Given the description of an element on the screen output the (x, y) to click on. 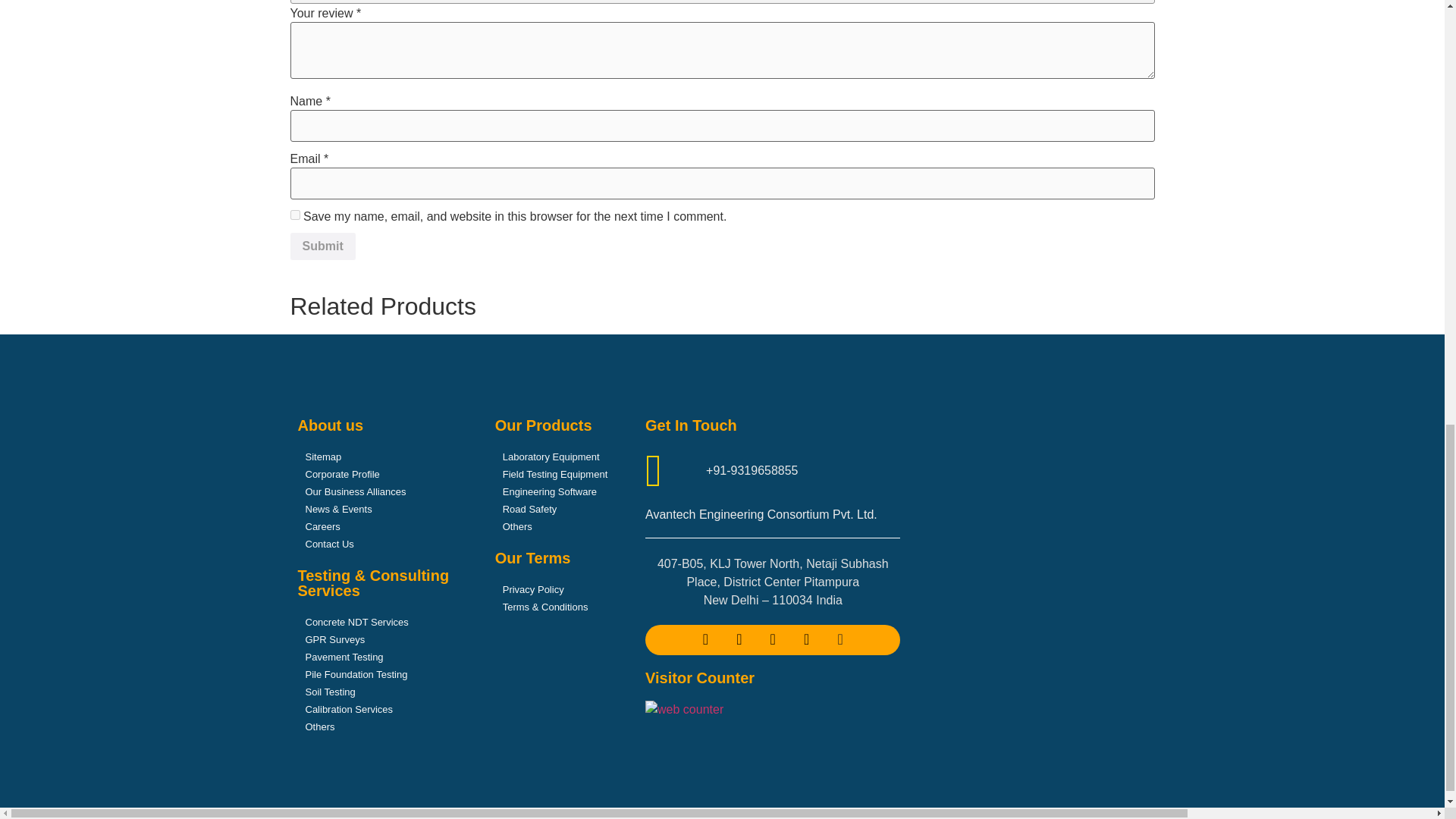
Submit (322, 246)
web counter (684, 710)
yes (294, 214)
web counter (684, 708)
